Given the description of an element on the screen output the (x, y) to click on. 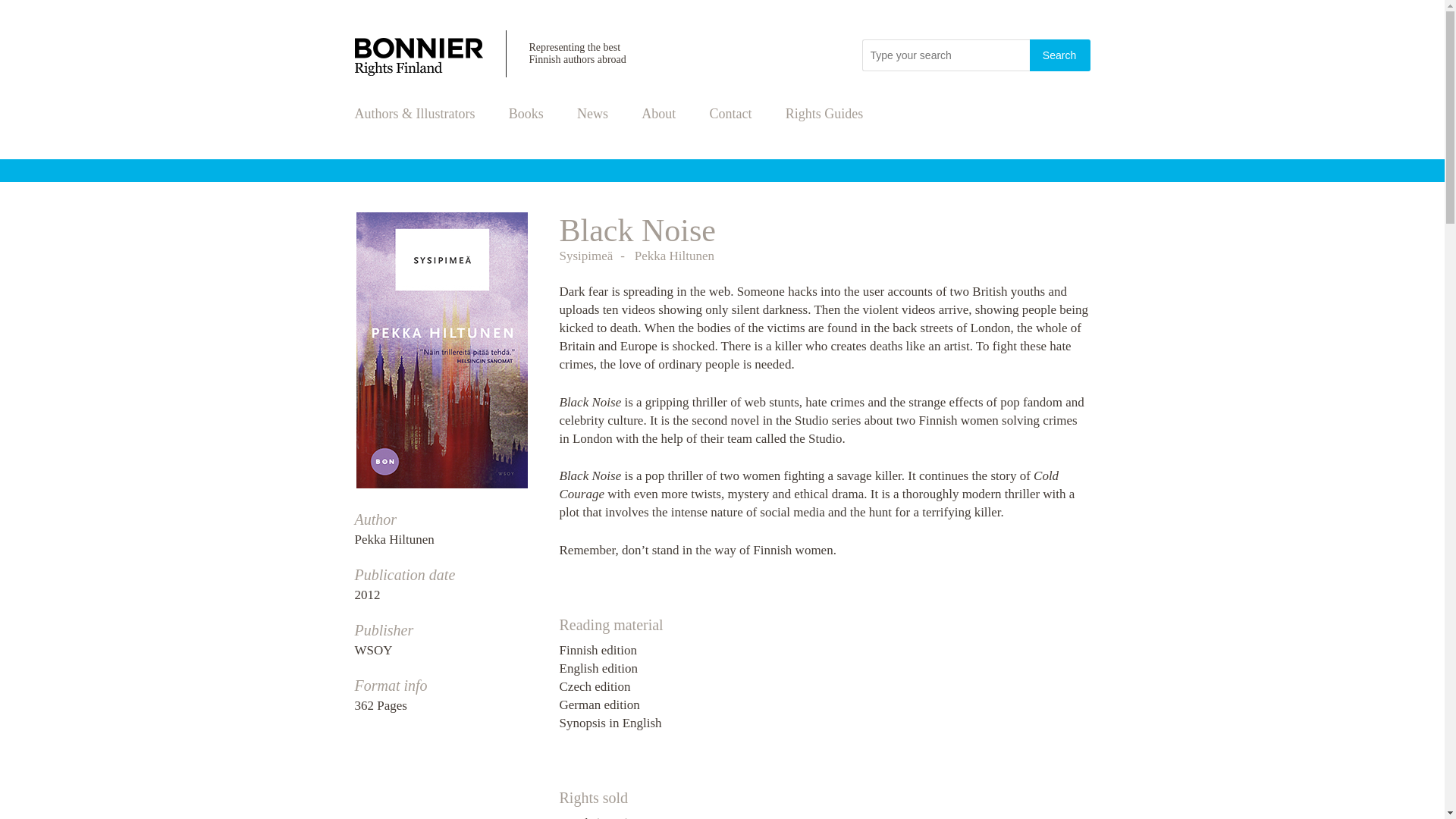
Search (1059, 55)
Rights Guides (824, 113)
Contact (731, 113)
News (592, 113)
Books (525, 113)
About (658, 113)
Pekka Hiltunen (394, 539)
Search (1059, 55)
Pekka Hiltunen (674, 255)
